Given the description of an element on the screen output the (x, y) to click on. 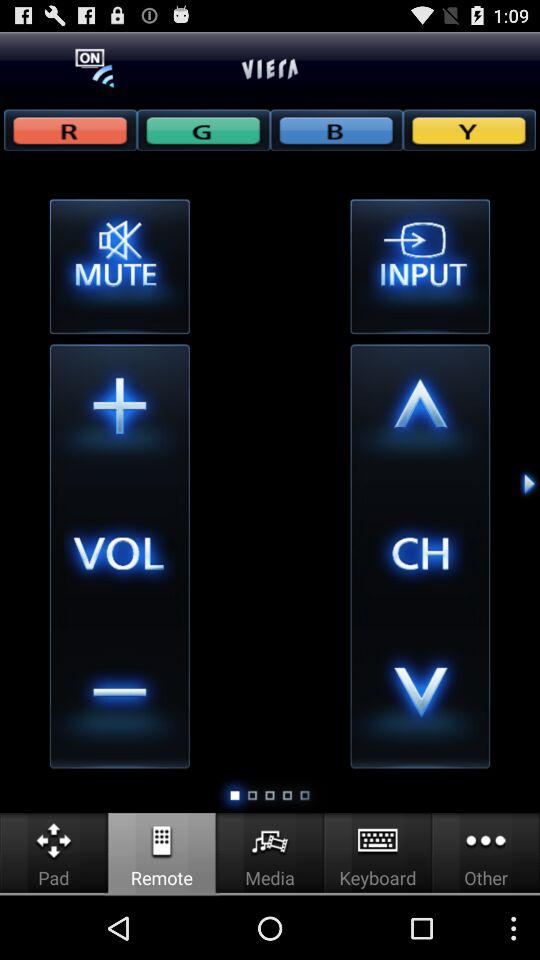
change input on the remote (420, 266)
